Given the description of an element on the screen output the (x, y) to click on. 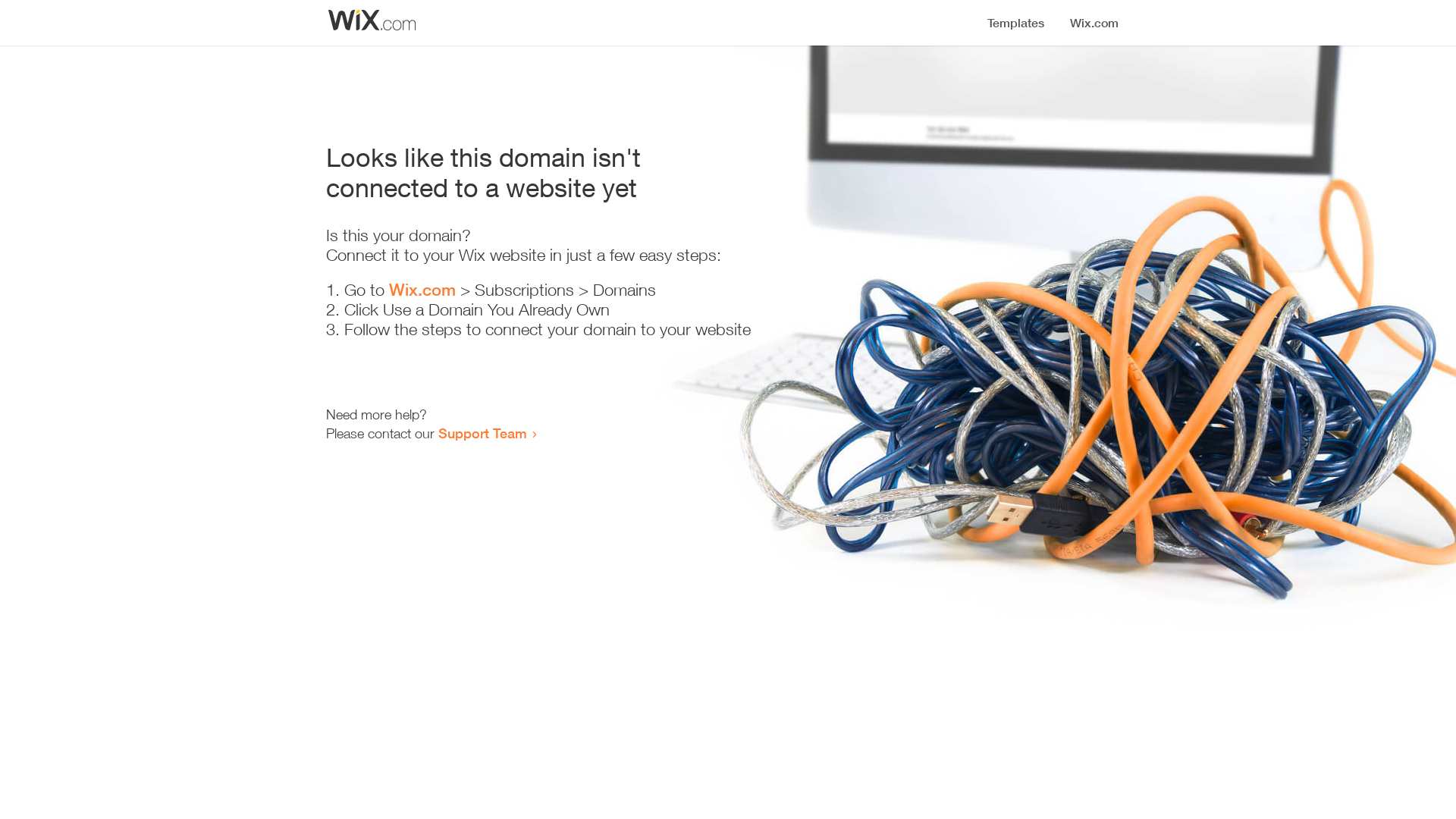
Support Team Element type: text (482, 432)
Wix.com Element type: text (422, 289)
